Given the description of an element on the screen output the (x, y) to click on. 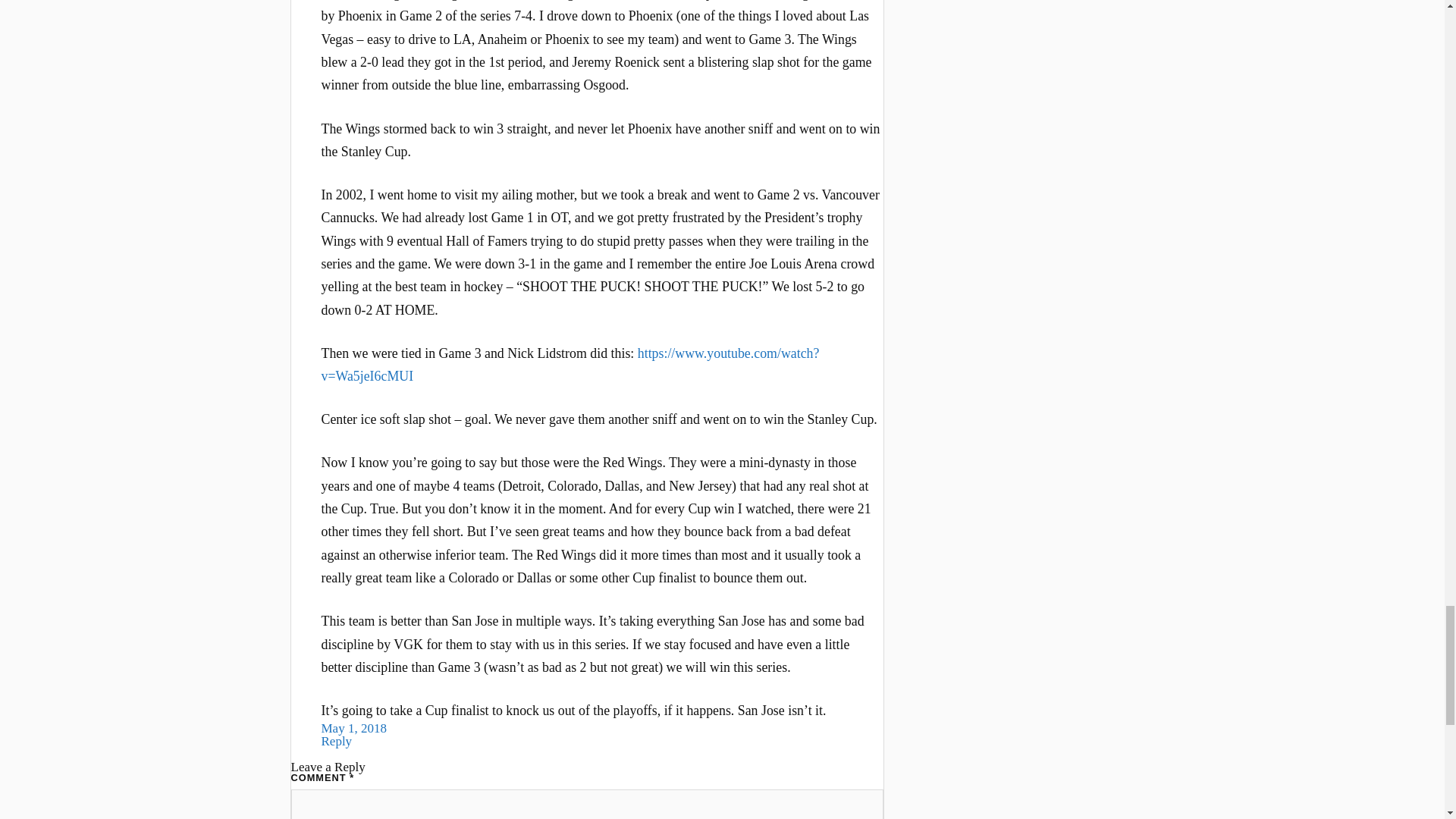
May 1, 2018 at 9:34 AM (354, 728)
